Given the description of an element on the screen output the (x, y) to click on. 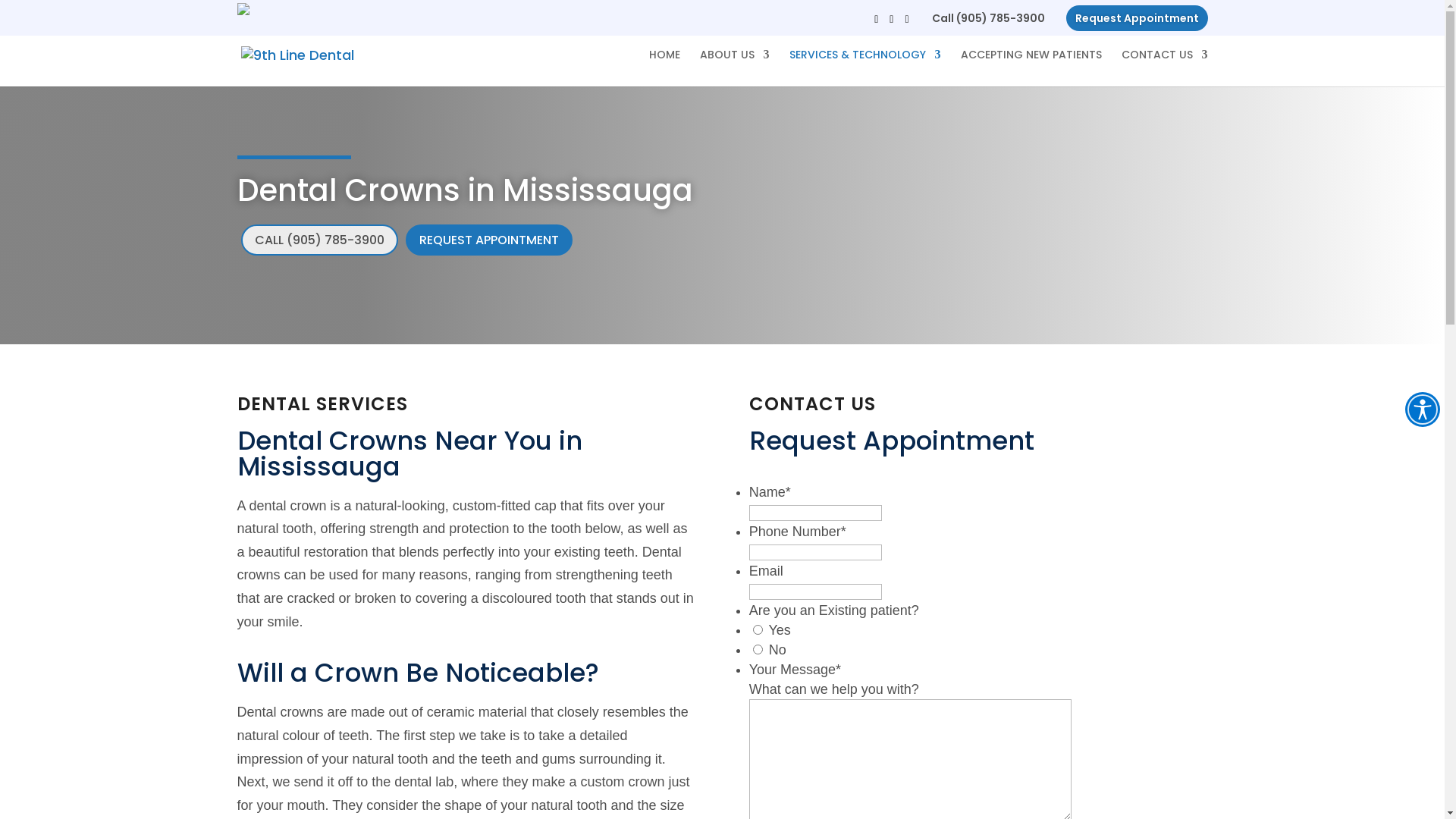
ABOUT US Element type: text (733, 67)
Call (905) 785-3900 Element type: text (987, 18)
ACCEPTING NEW PATIENTS Element type: text (1030, 67)
Request Appointment Element type: text (1137, 18)
REQUEST APPOINTMENT Element type: text (487, 239)
HOME Element type: text (664, 67)
CONTACT US Element type: text (1163, 67)
SERVICES & TECHNOLOGY Element type: text (864, 67)
CALL (905) 785-3900 Element type: text (319, 239)
